Given the description of an element on the screen output the (x, y) to click on. 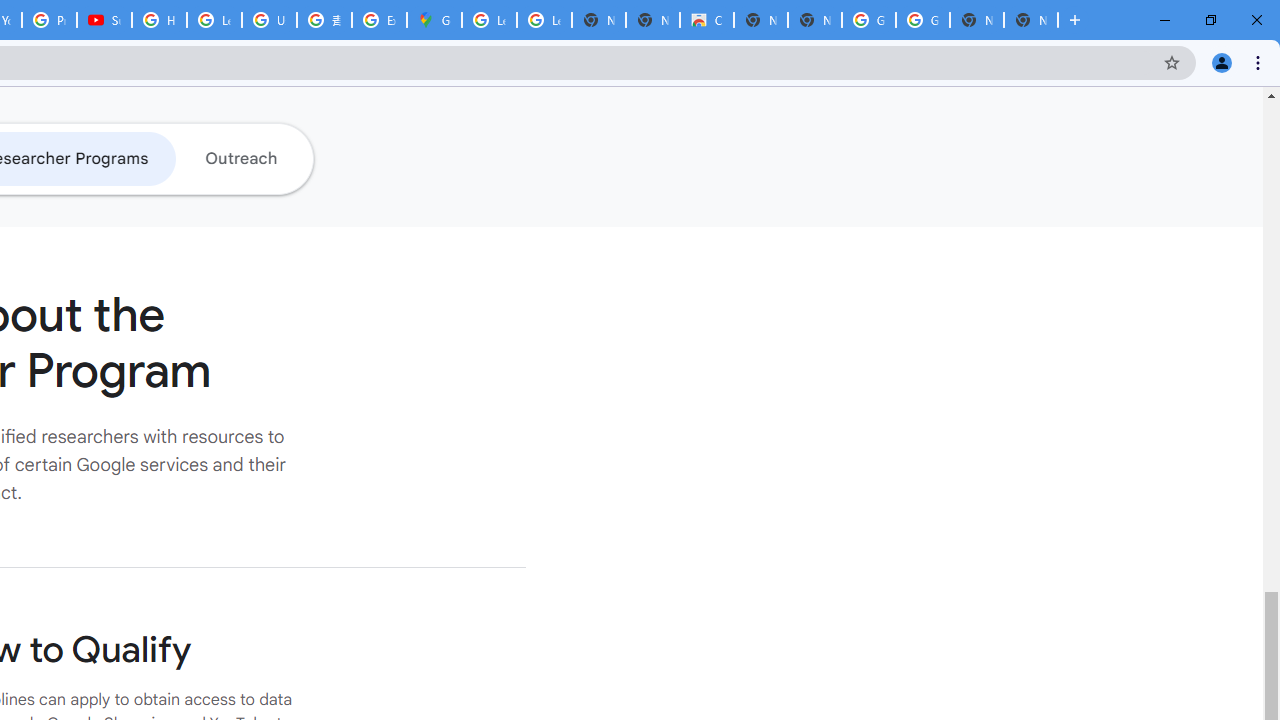
Google Images (922, 20)
Subscriptions - YouTube (103, 20)
New Tab (1030, 20)
Google Images (868, 20)
Google Maps (434, 20)
